Given the description of an element on the screen output the (x, y) to click on. 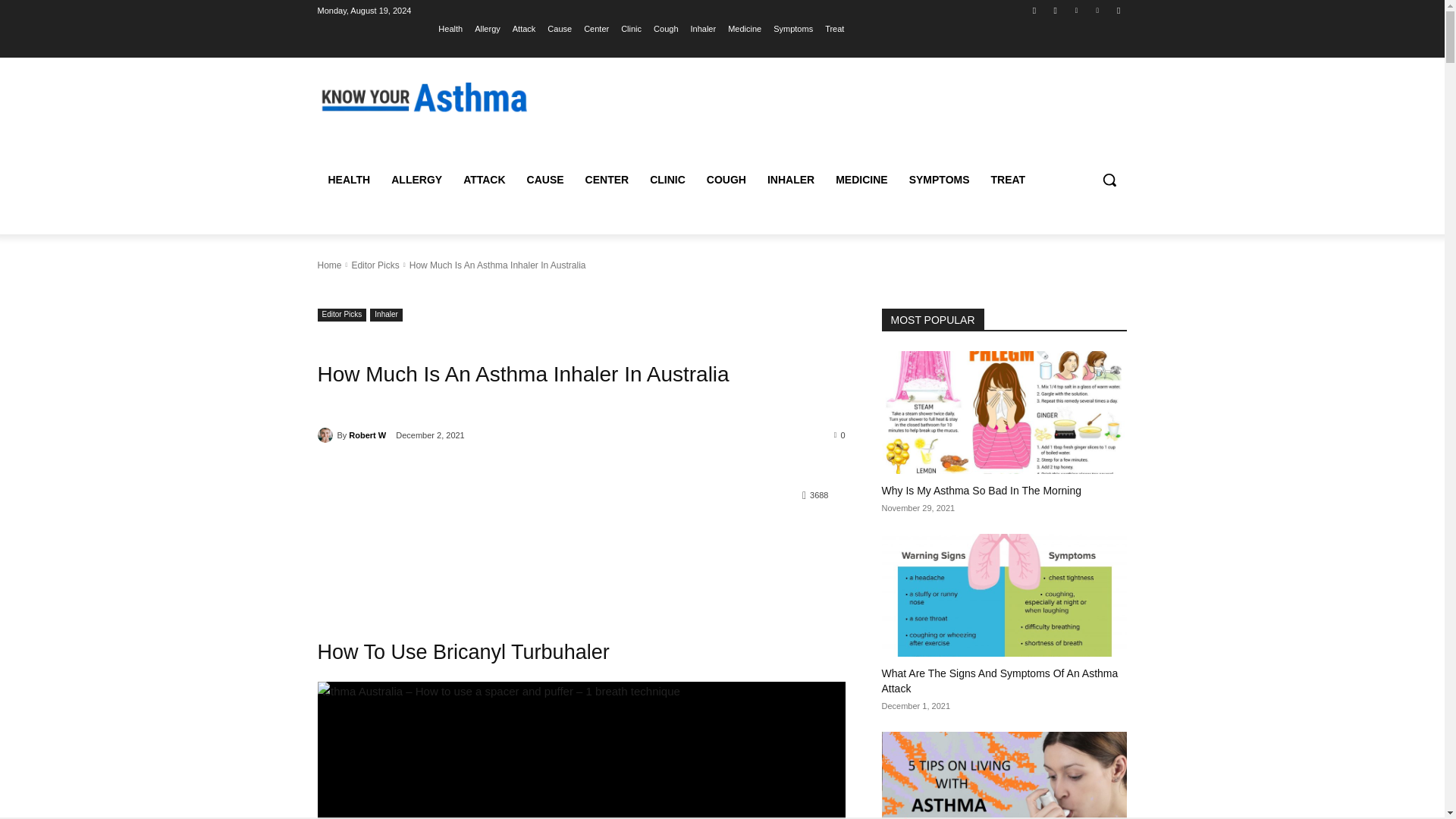
Youtube (1117, 9)
Clinic (631, 28)
Twitter (1075, 9)
View all posts in Editor Picks (374, 265)
Health (450, 28)
HEALTH (348, 179)
Symptoms (792, 28)
Cause (559, 28)
Robert W (326, 435)
Center (595, 28)
